Given the description of an element on the screen output the (x, y) to click on. 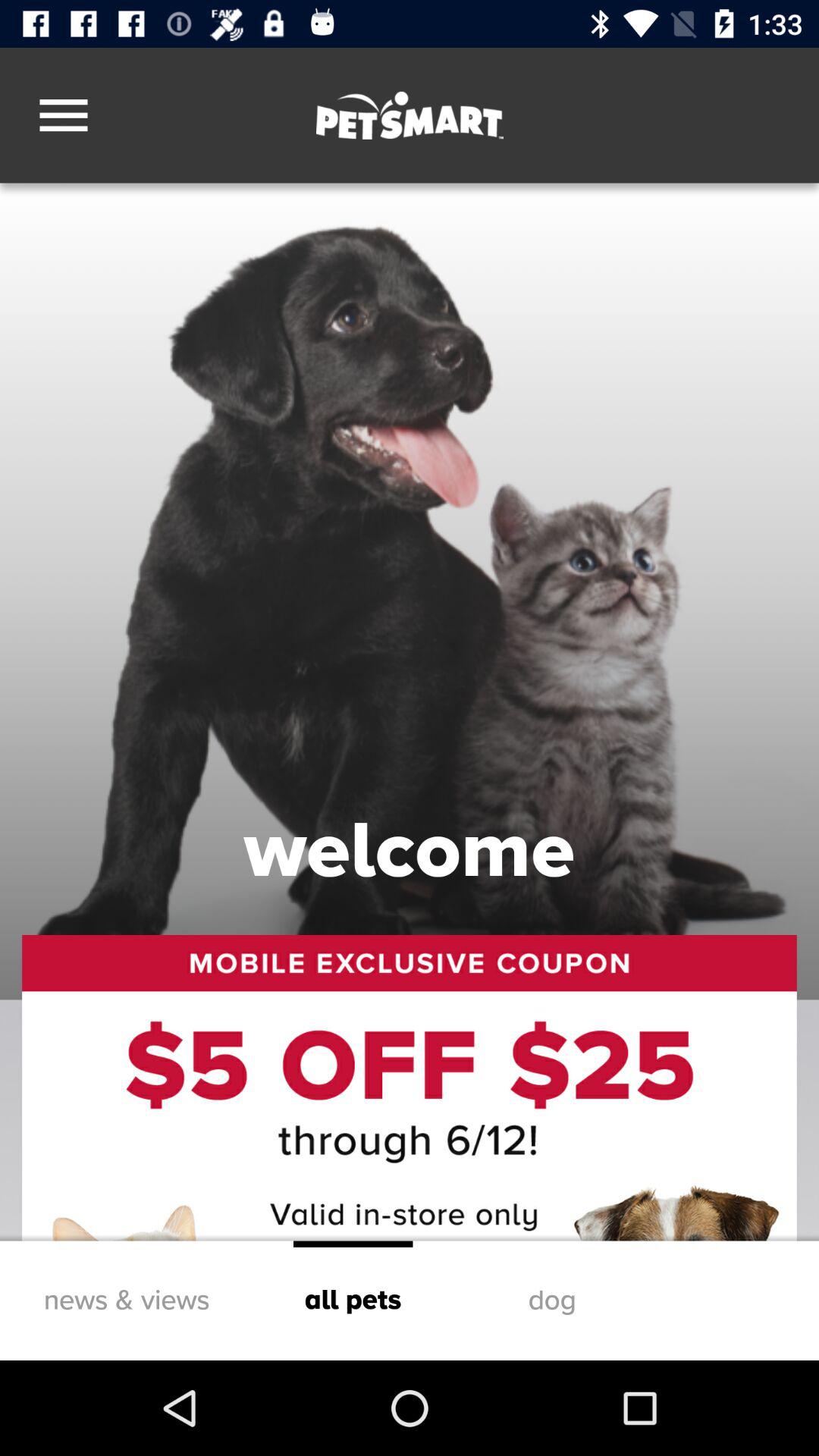
launch dog item (552, 1300)
